Given the description of an element on the screen output the (x, y) to click on. 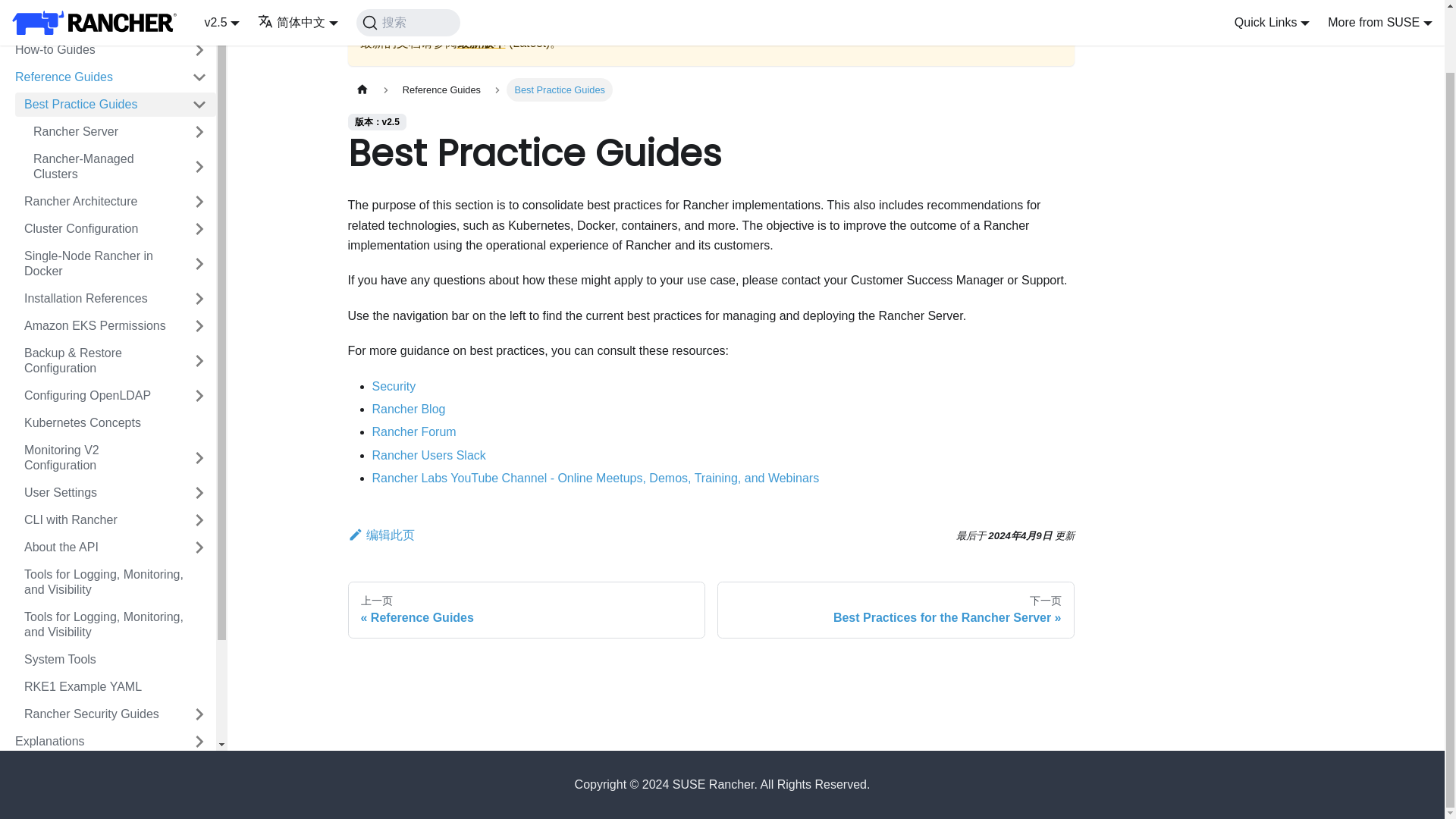
Reference Guides (94, 77)
Rancher-Managed Clusters (103, 166)
Getting Started (94, 22)
Best Practice Guides (98, 104)
Rancher 2.5 (110, 3)
How-to Guides (94, 49)
Rancher Server (103, 131)
